Given the description of an element on the screen output the (x, y) to click on. 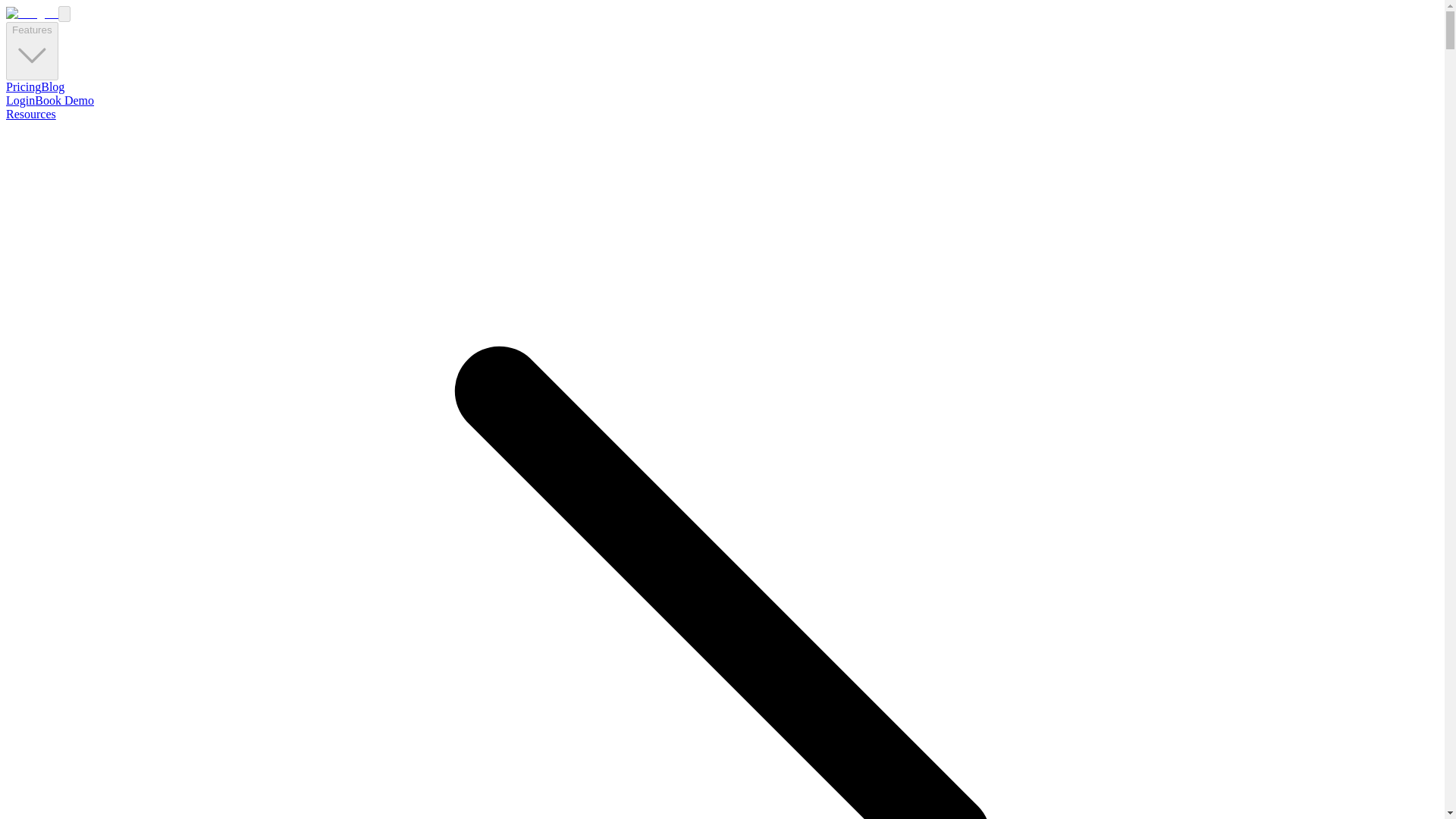
Book Demo (64, 100)
Login (19, 100)
Features (31, 51)
Resources (30, 113)
Blog (52, 86)
Pricing (22, 86)
